Given the description of an element on the screen output the (x, y) to click on. 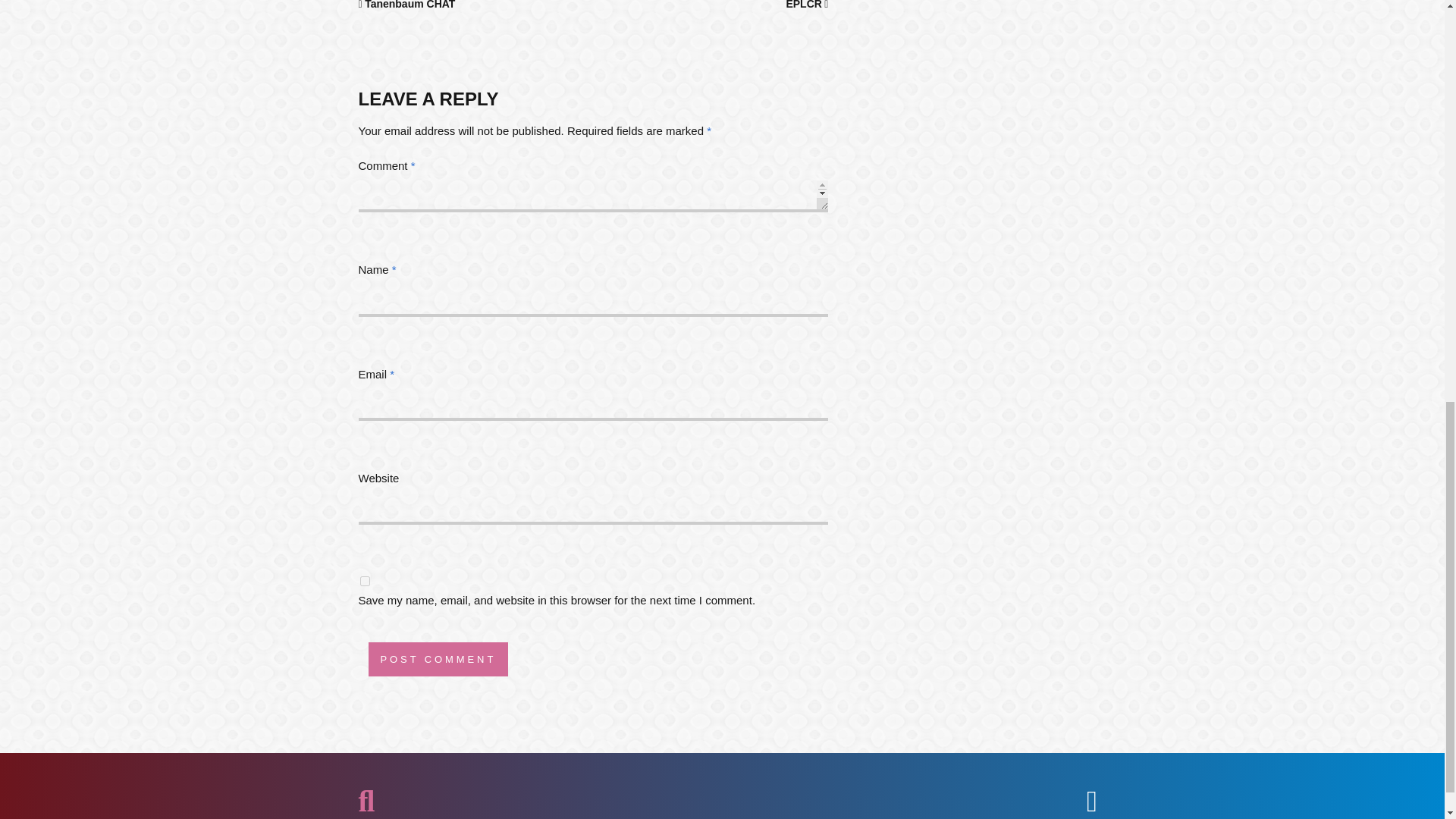
EPLCR (807, 4)
Tanenbaum CHAT (406, 4)
Post Comment (438, 659)
yes (364, 581)
Post Comment (438, 659)
